Given the description of an element on the screen output the (x, y) to click on. 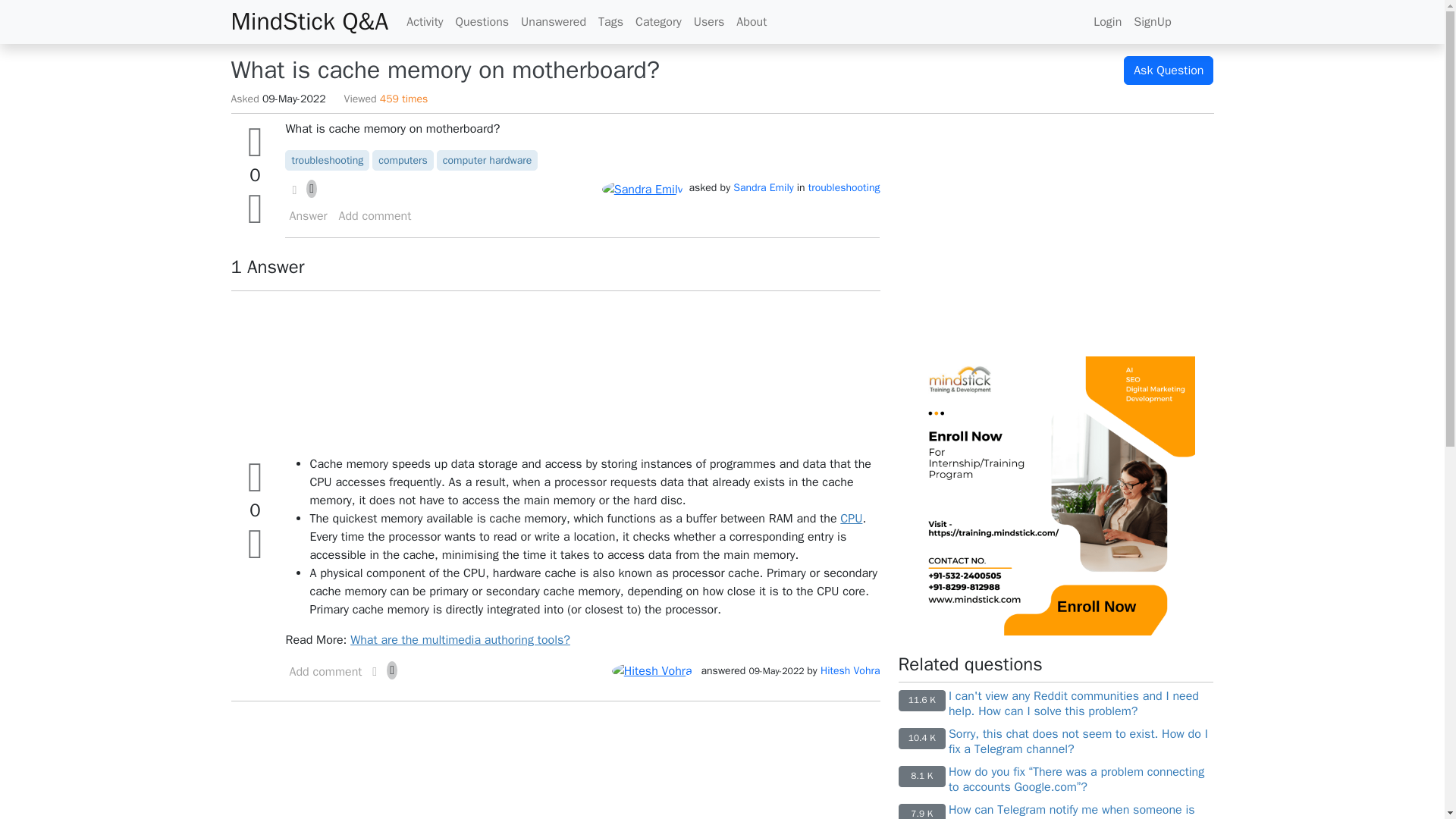
Questions (481, 21)
Tags (610, 21)
SignUp (1151, 21)
What are the multimedia authoring tools? (460, 639)
Sandra Emily (763, 187)
troubleshooting (326, 160)
About (751, 21)
Users (708, 21)
Add a comment on this answer (325, 671)
Activity (424, 21)
